Given the description of an element on the screen output the (x, y) to click on. 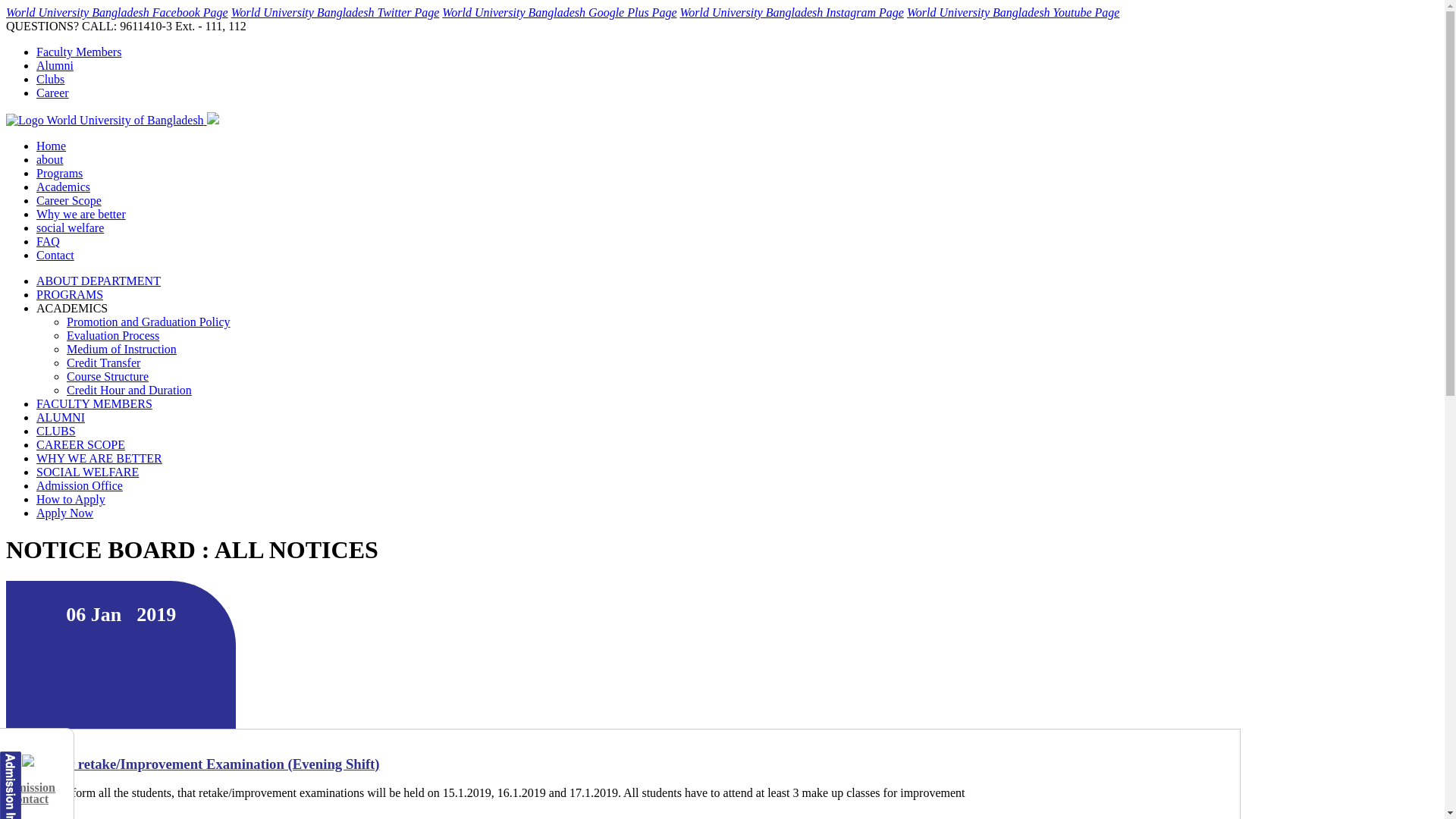
World University Bangladesh Facebook Page Element type: text (117, 12)
WHY WE ARE BETTER Element type: text (99, 457)
Programs Element type: text (59, 172)
Home Element type: text (50, 145)
Faculty Members Element type: text (78, 51)
PROGRAMS Element type: text (69, 294)
ABOUT DEPARTMENT Element type: text (98, 280)
SOCIAL WELFARE Element type: text (87, 471)
Admission Office Element type: text (79, 485)
Why we are better Element type: text (80, 213)
Alumni Element type: text (54, 65)
Apply Now Element type: text (64, 512)
Course Structure Element type: text (107, 376)
Medium of Instruction Element type: text (121, 348)
Credit Hour and Duration Element type: text (128, 389)
Logo World University of Bangladesh Element type: hover (104, 120)
about Element type: text (49, 159)
World University Bangladesh Twitter Page Element type: text (335, 12)
Promotion and Graduation Policy Element type: text (148, 321)
CLUBS Element type: text (55, 430)
Contact Element type: text (55, 254)
World University Bangladesh Google Plus Page Element type: text (559, 12)
Clubs Element type: text (50, 78)
Credit Transfer Element type: text (103, 362)
World University Bangladesh Youtube Page Element type: text (1013, 12)
Evaluation Process Element type: text (112, 335)
social welfare Element type: text (69, 227)
How to Apply Element type: text (70, 498)
Academics Element type: text (63, 186)
FAQ Element type: text (47, 241)
FACULTY MEMBERS Element type: text (94, 403)
World University Bangladesh Instagram Page Element type: text (791, 12)
ALUMNI Element type: text (60, 417)
Career Scope Element type: text (68, 200)
Career Element type: text (52, 92)
CAREER SCOPE Element type: text (80, 444)
Notice for retake/Improvement Examination (Evening Shift) Element type: text (623, 764)
